Given the description of an element on the screen output the (x, y) to click on. 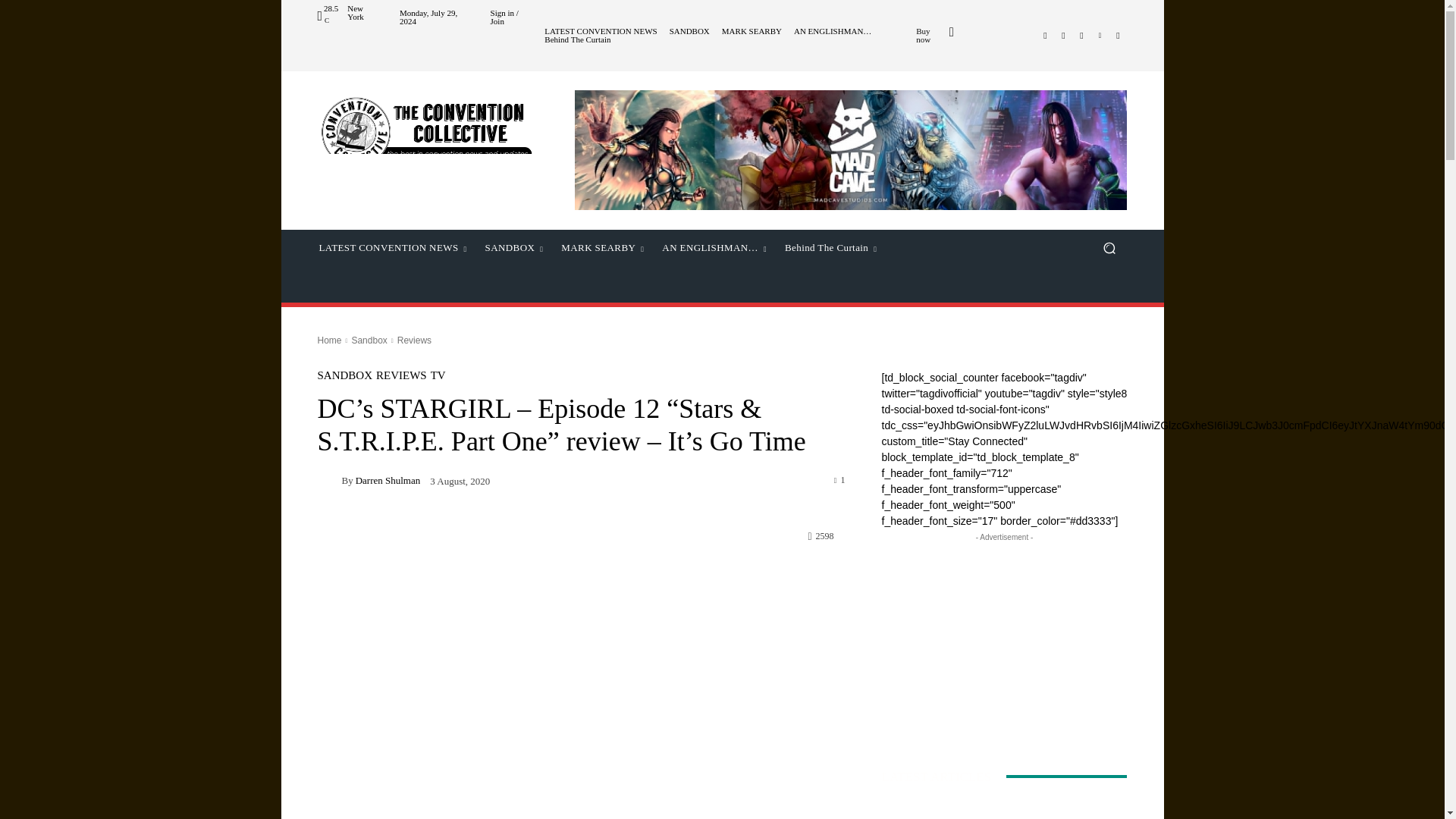
Instagram (1062, 35)
SANDBOX (689, 31)
Youtube (1117, 35)
Twitter (1080, 35)
Facebook (1044, 35)
Vimeo (1099, 35)
LATEST CONVENTION NEWS (600, 31)
